Given the description of an element on the screen output the (x, y) to click on. 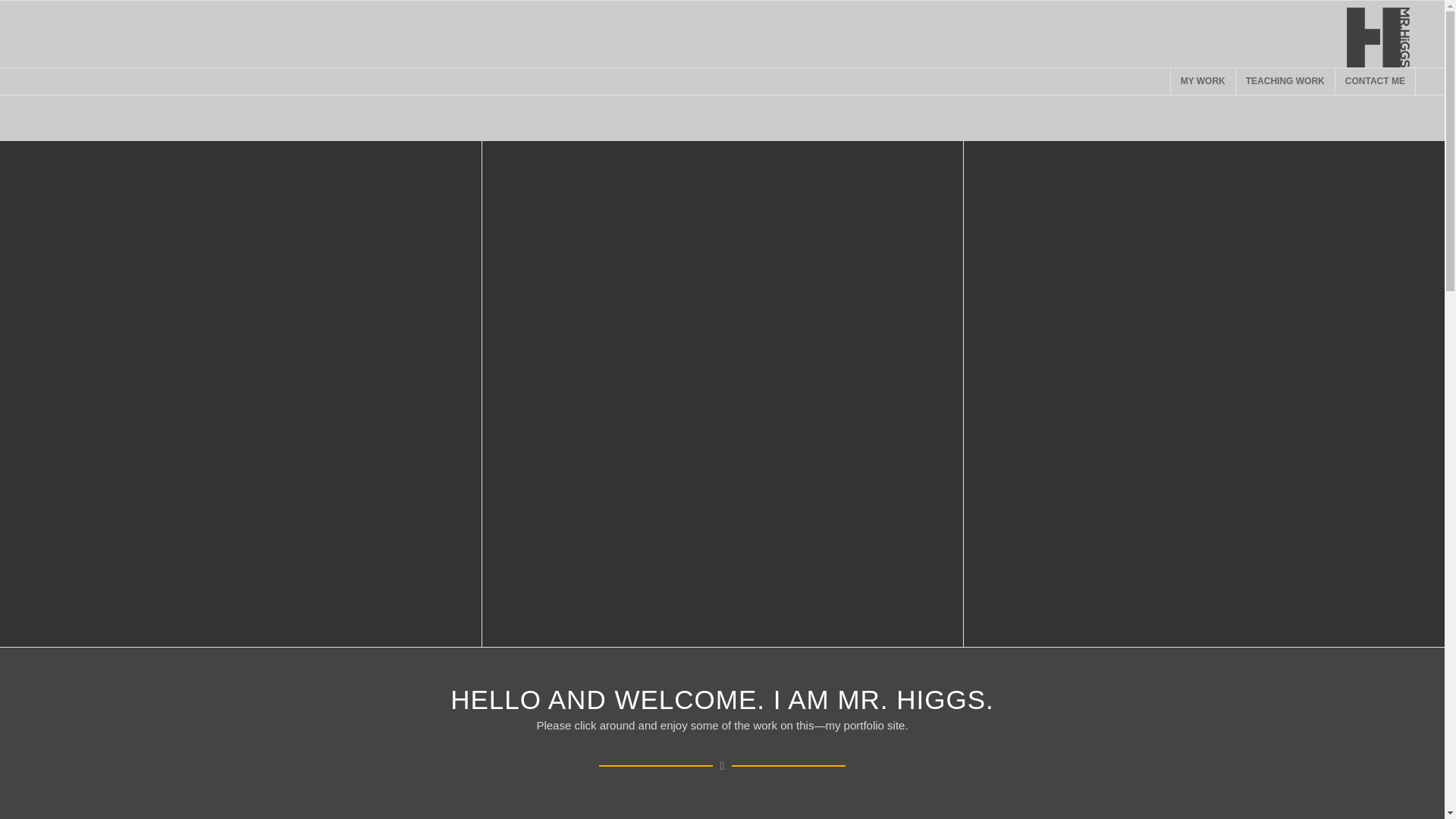
TEACHING WORK (1285, 81)
MY WORK (1203, 81)
CONTACT ME (1375, 81)
